Given the description of an element on the screen output the (x, y) to click on. 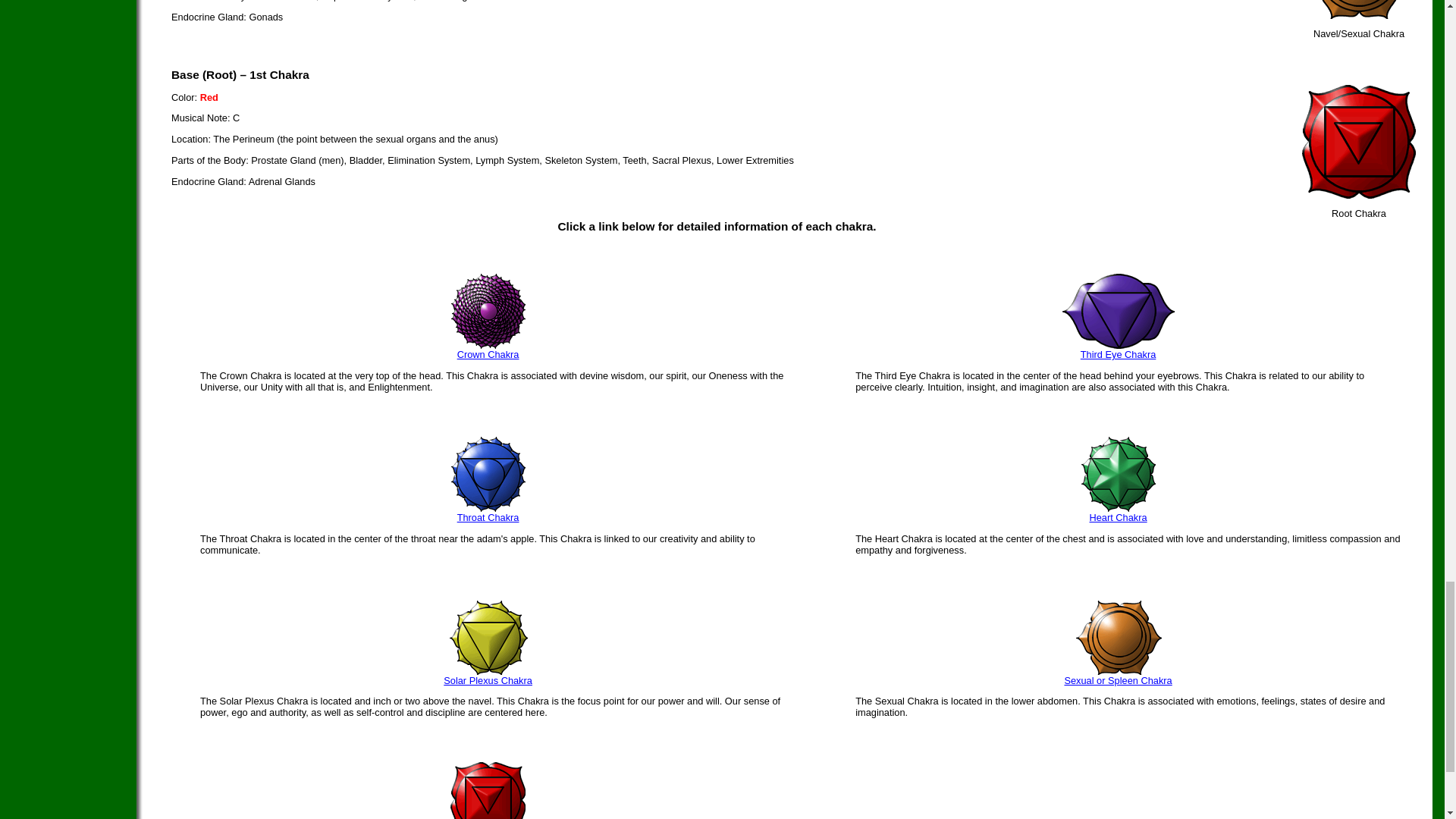
Sexual Chakra (1358, 15)
Throat Chakra (488, 517)
Crown Chakra (488, 354)
Third Eye Chakra (1118, 354)
Root Chakra (1358, 194)
